Given the description of an element on the screen output the (x, y) to click on. 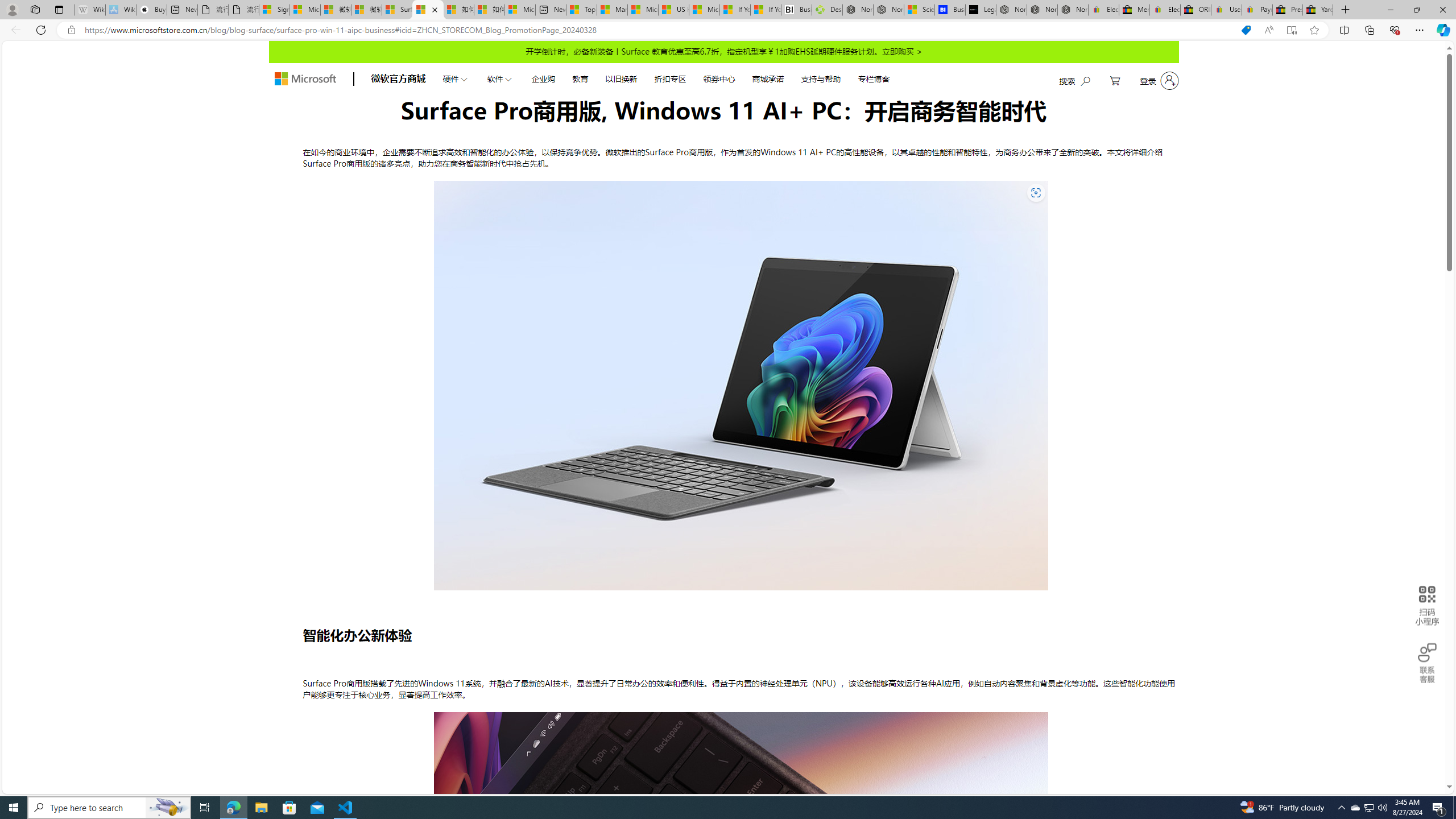
Microsoft (304, 78)
Yard, Garden & Outdoor Living (1317, 9)
